Given the description of an element on the screen output the (x, y) to click on. 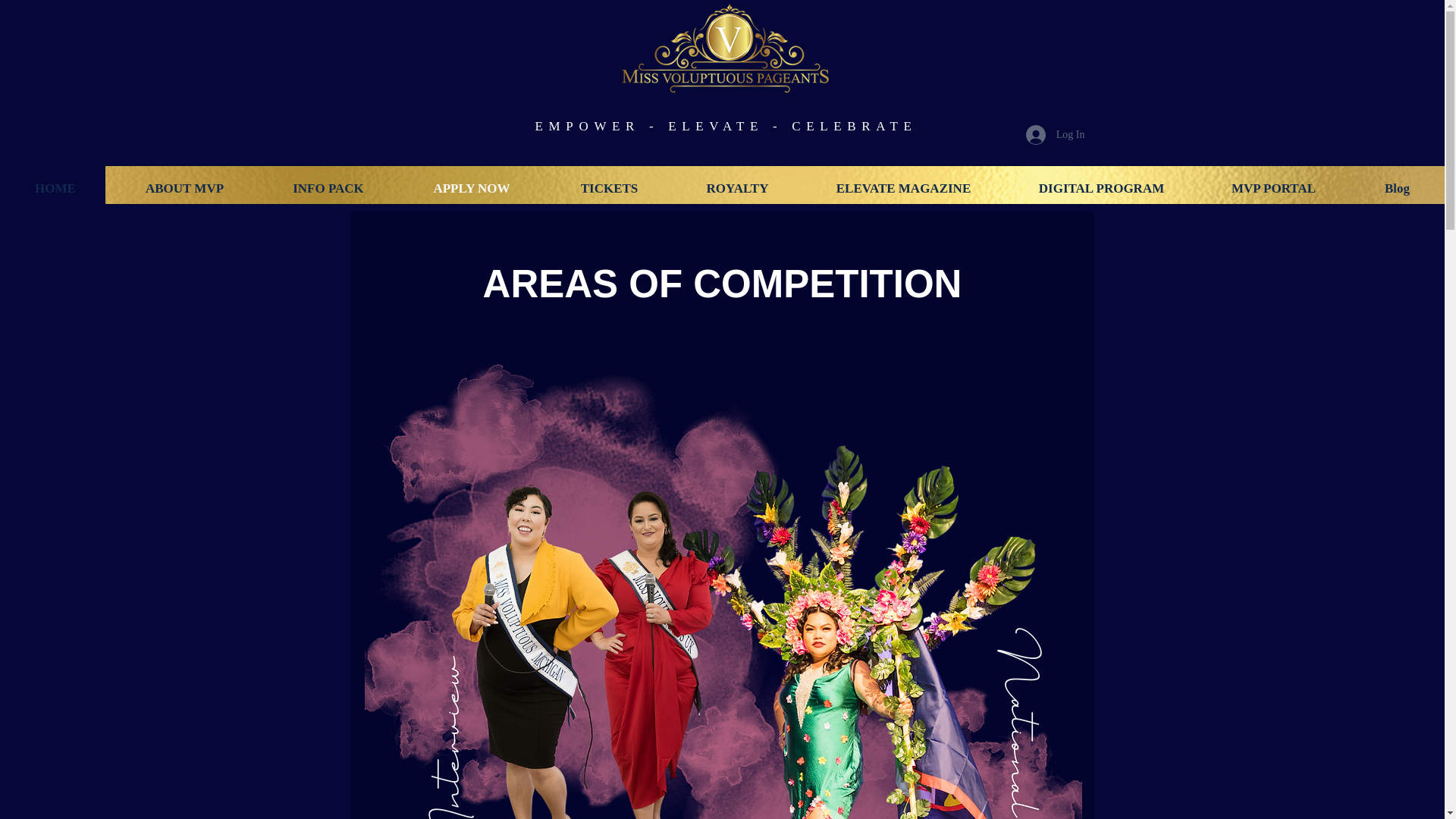
HOME (55, 188)
AREAS OF COMPETITION (722, 283)
ABOUT MVP (184, 188)
APPLY NOW (470, 188)
ELEVATE MAGAZINE (904, 188)
MVP PORTAL (1272, 188)
DIGITAL PROGRAM (1101, 188)
ROYALTY (737, 188)
Log In (1055, 133)
TICKETS (608, 188)
INFO PACK (328, 188)
